Given the description of an element on the screen output the (x, y) to click on. 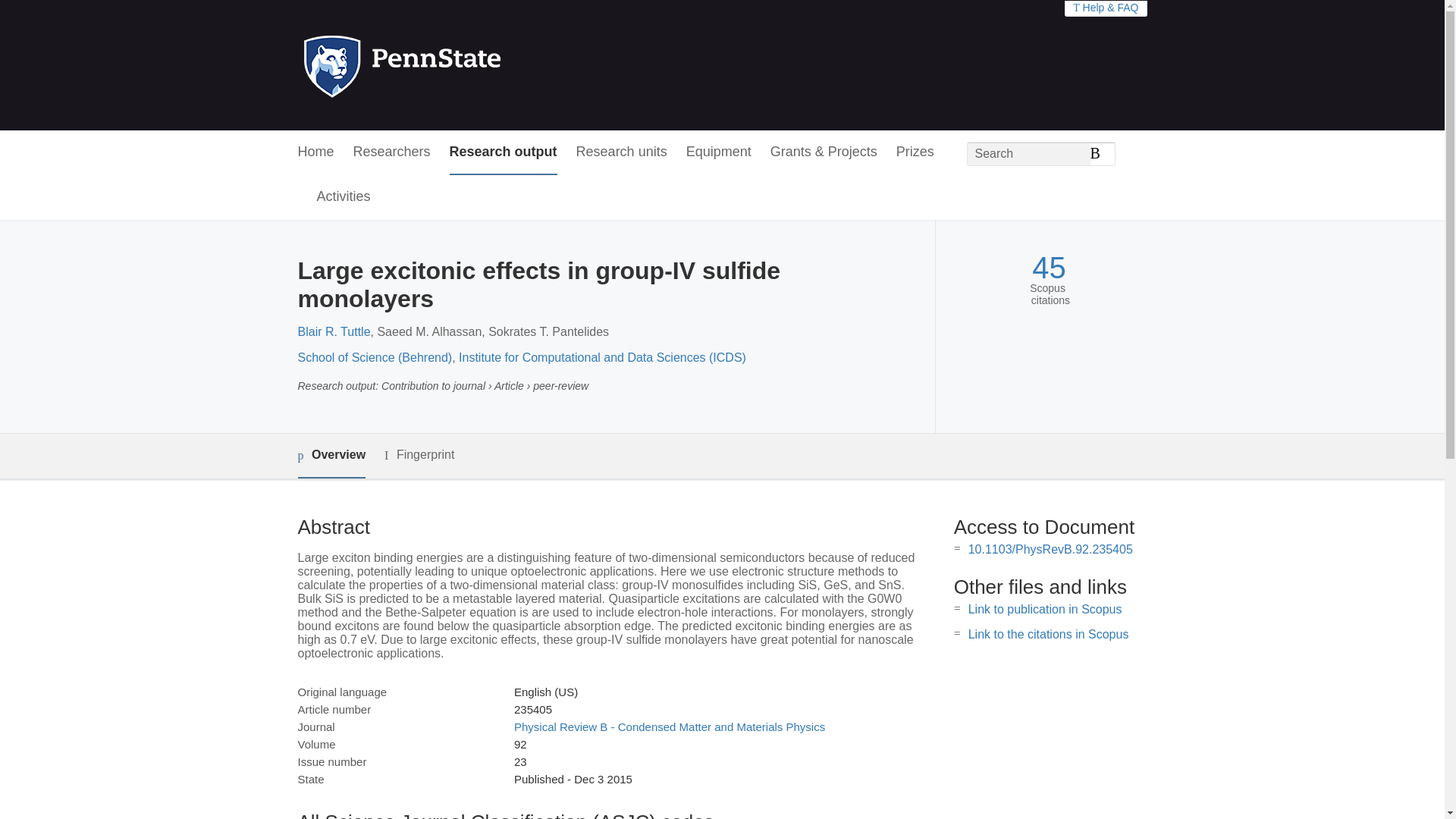
Overview (331, 456)
Penn State Home (467, 65)
Physical Review B - Condensed Matter and Materials Physics (669, 726)
Activities (344, 197)
45 (1048, 267)
Blair R. Tuttle (333, 331)
Equipment (718, 152)
Research units (621, 152)
Link to publication in Scopus (1045, 608)
